Given the description of an element on the screen output the (x, y) to click on. 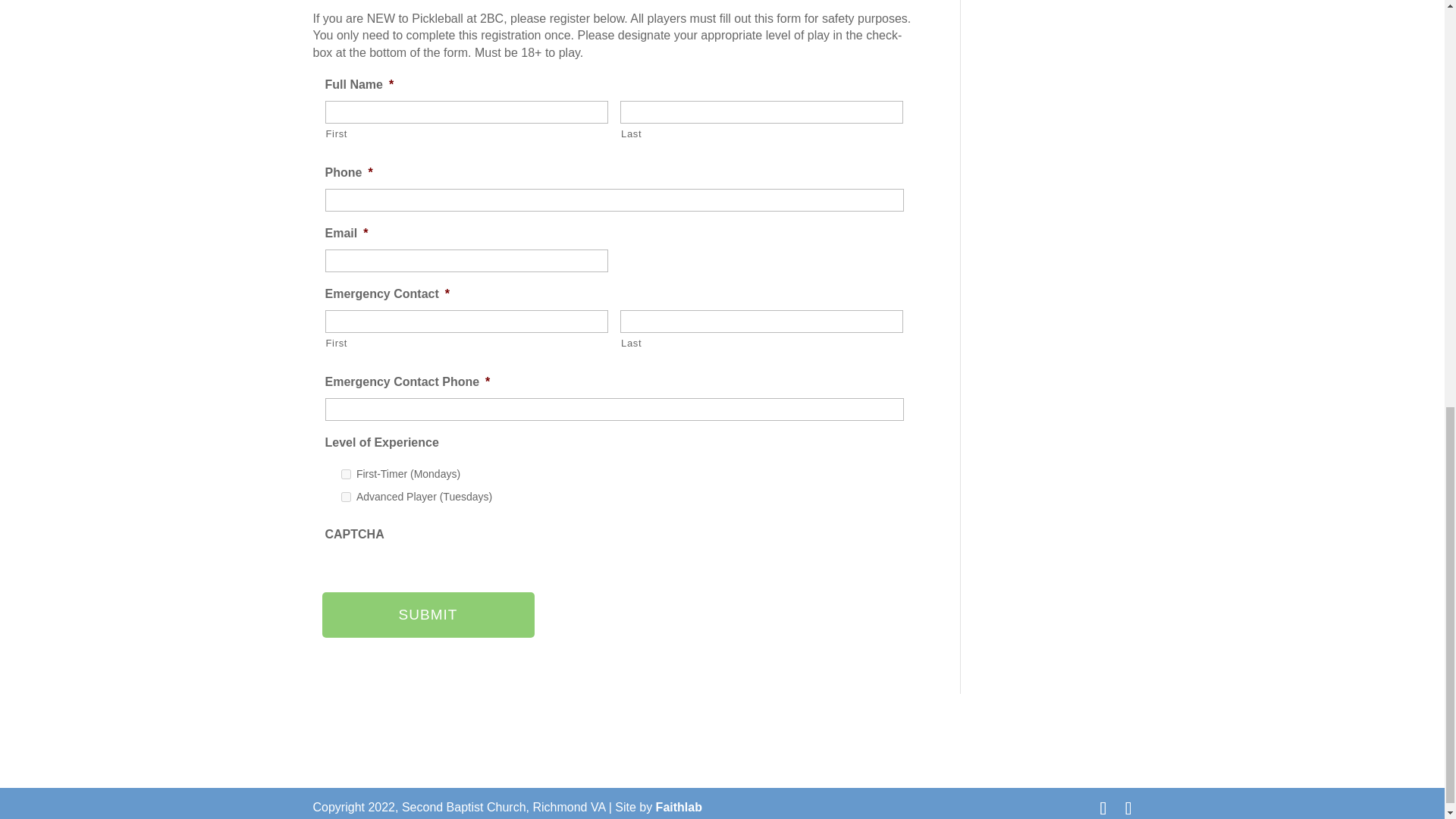
Submit (427, 615)
